Given the description of an element on the screen output the (x, y) to click on. 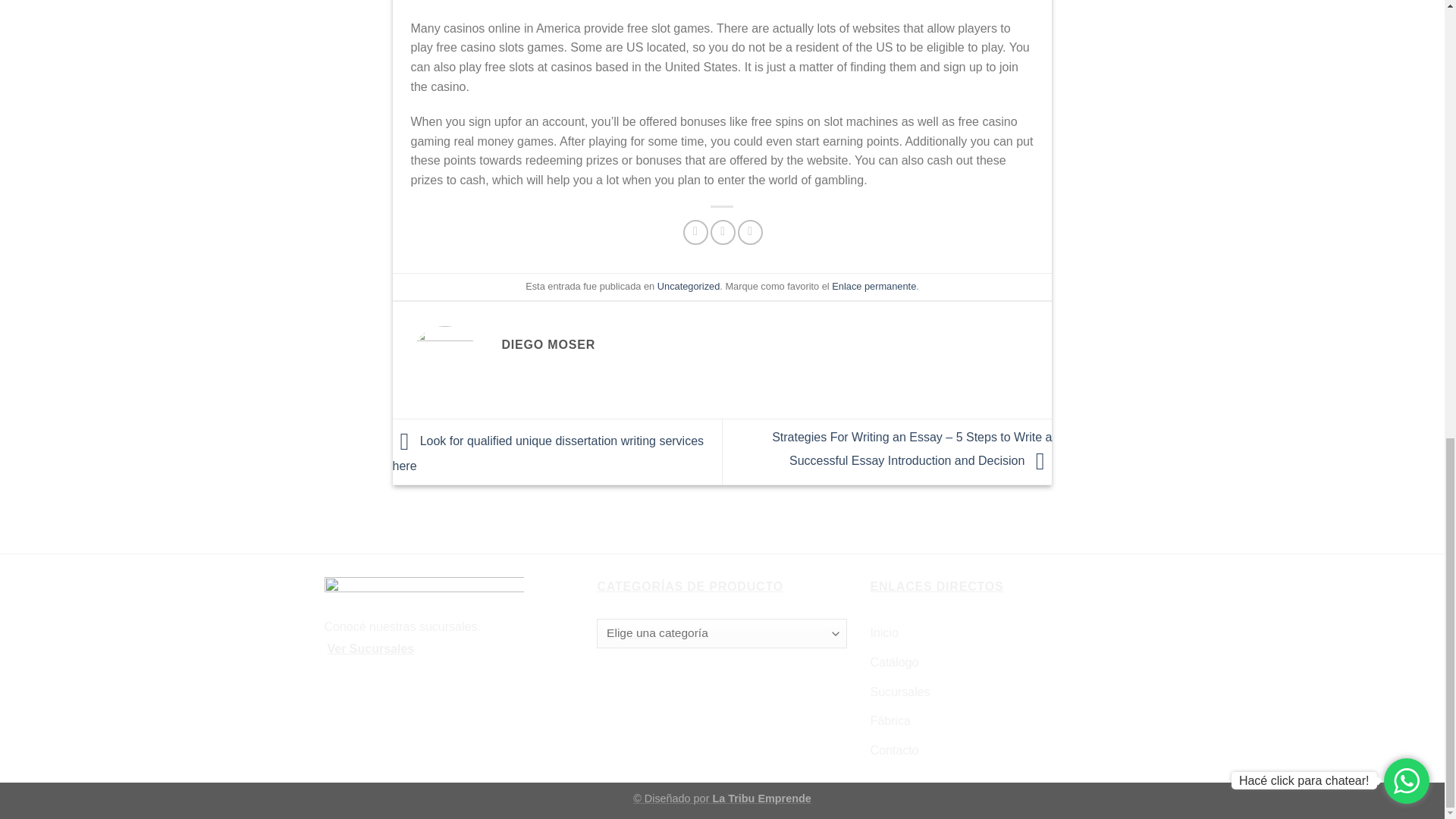
Enlace permanente a  (873, 285)
Compartir en Facebook (694, 232)
Compartir en Twitter (722, 232)
